Given the description of an element on the screen output the (x, y) to click on. 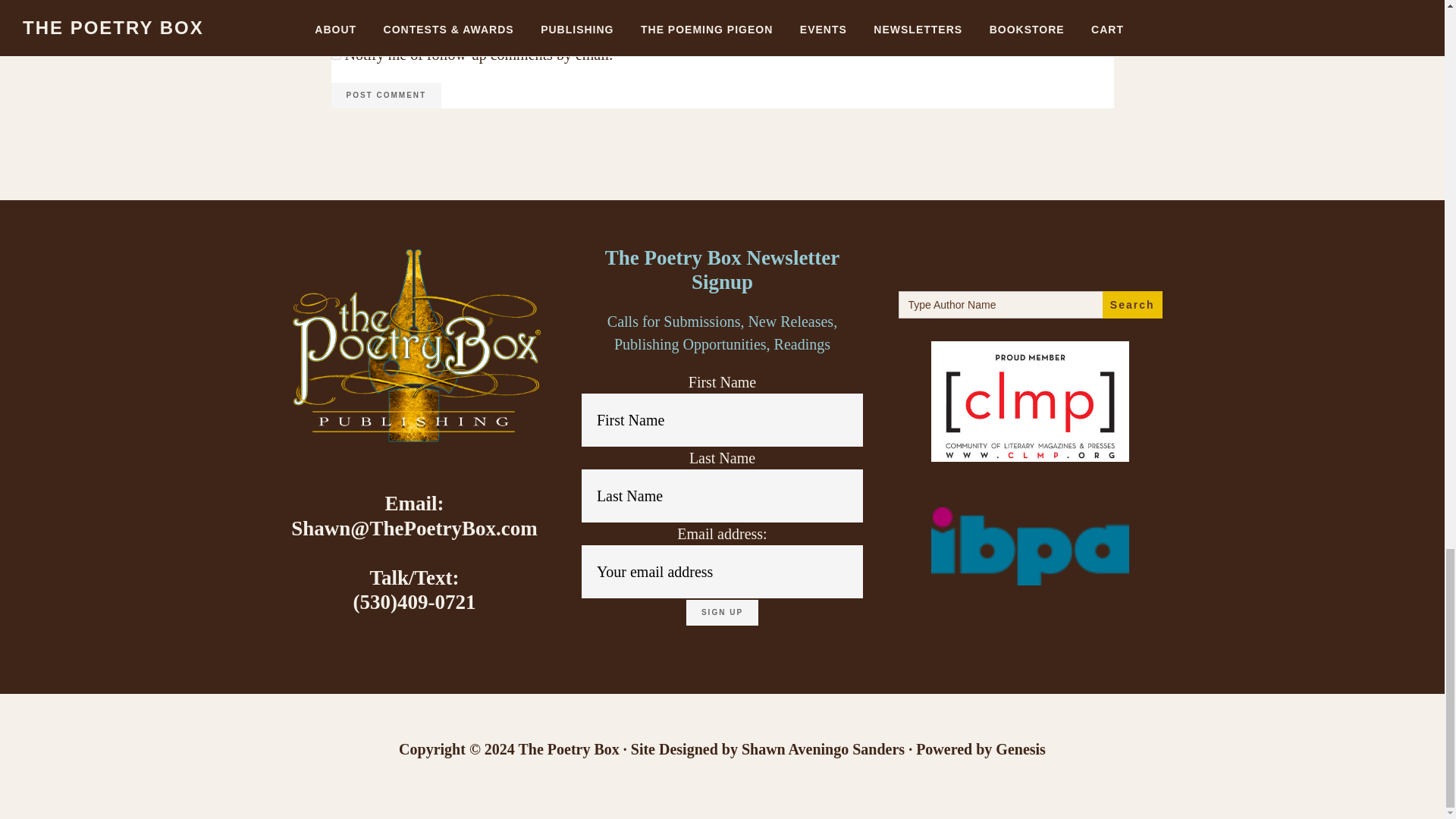
Search (1131, 304)
Post Comment (385, 95)
subscribe (335, 54)
Sign up (721, 612)
Search (1131, 304)
